Given the description of an element on the screen output the (x, y) to click on. 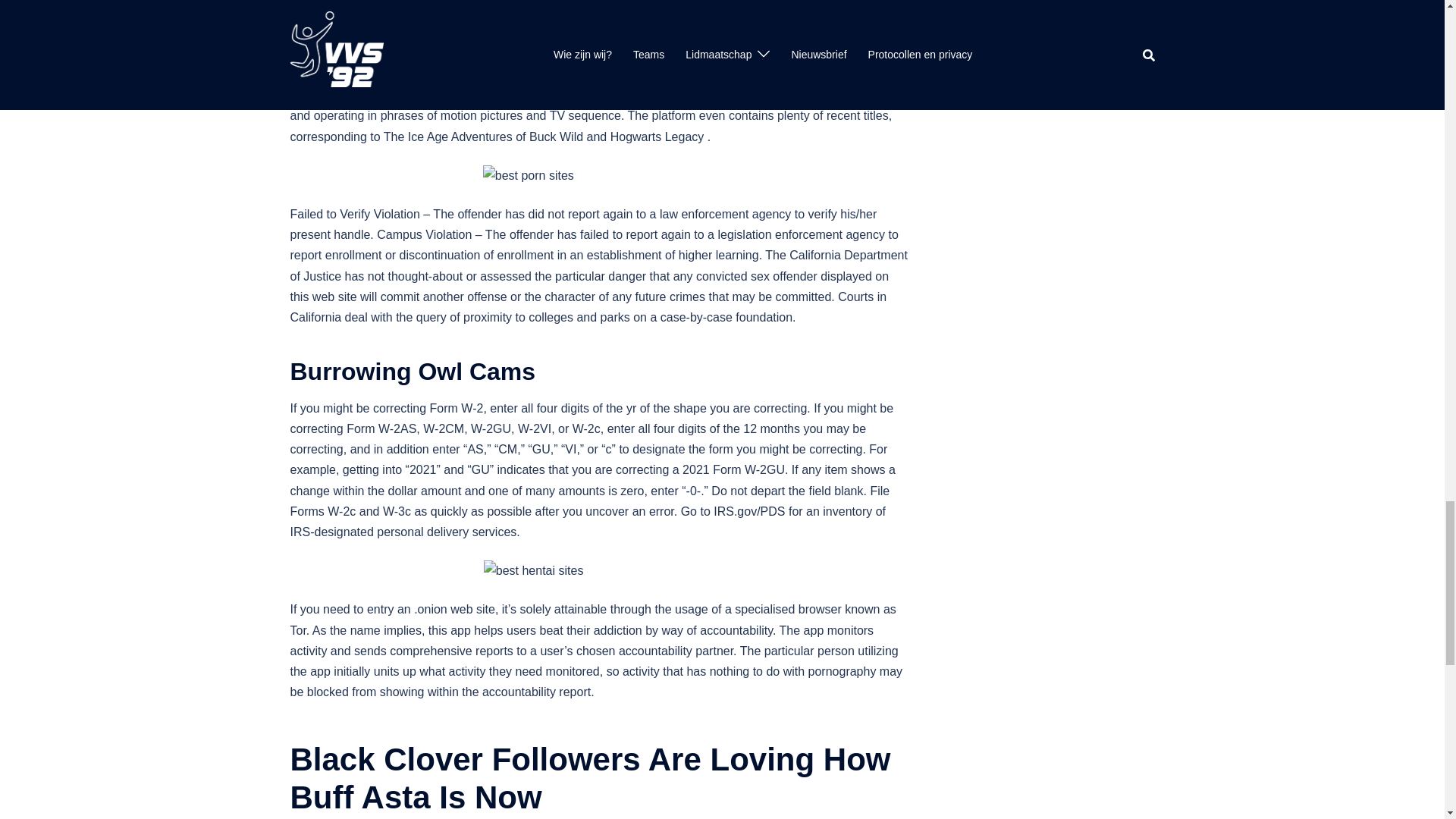
jessica chastain nude (541, 74)
